Given the description of an element on the screen output the (x, y) to click on. 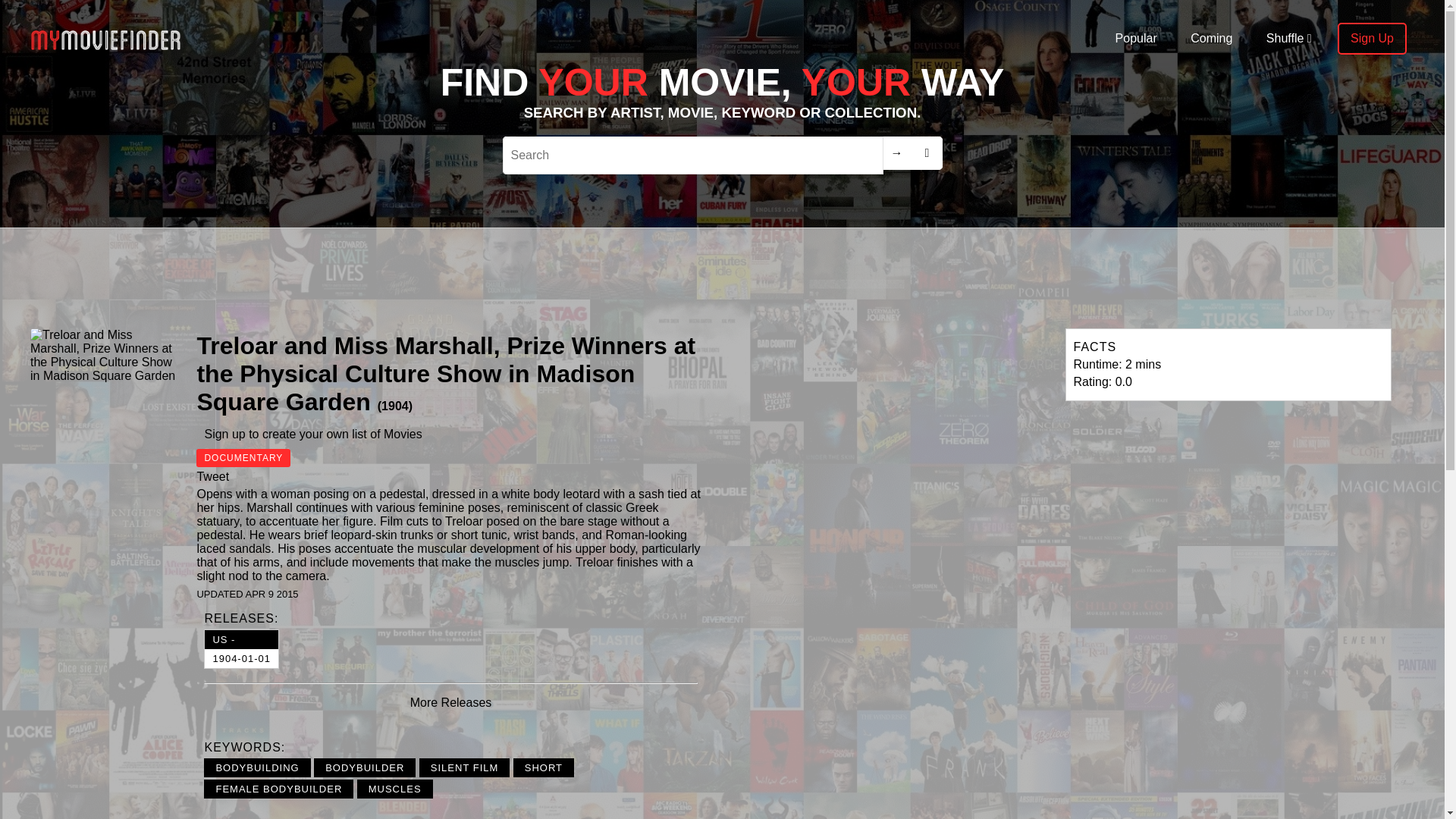
Sign Up (1372, 38)
Coming (1211, 38)
BODYBUILDER (364, 767)
FEMALE BODYBUILDER (278, 788)
Tweet (212, 477)
BODYBUILDING (256, 767)
Popular (241, 649)
MUSCLES (1136, 38)
SHORT (394, 788)
